Given the description of an element on the screen output the (x, y) to click on. 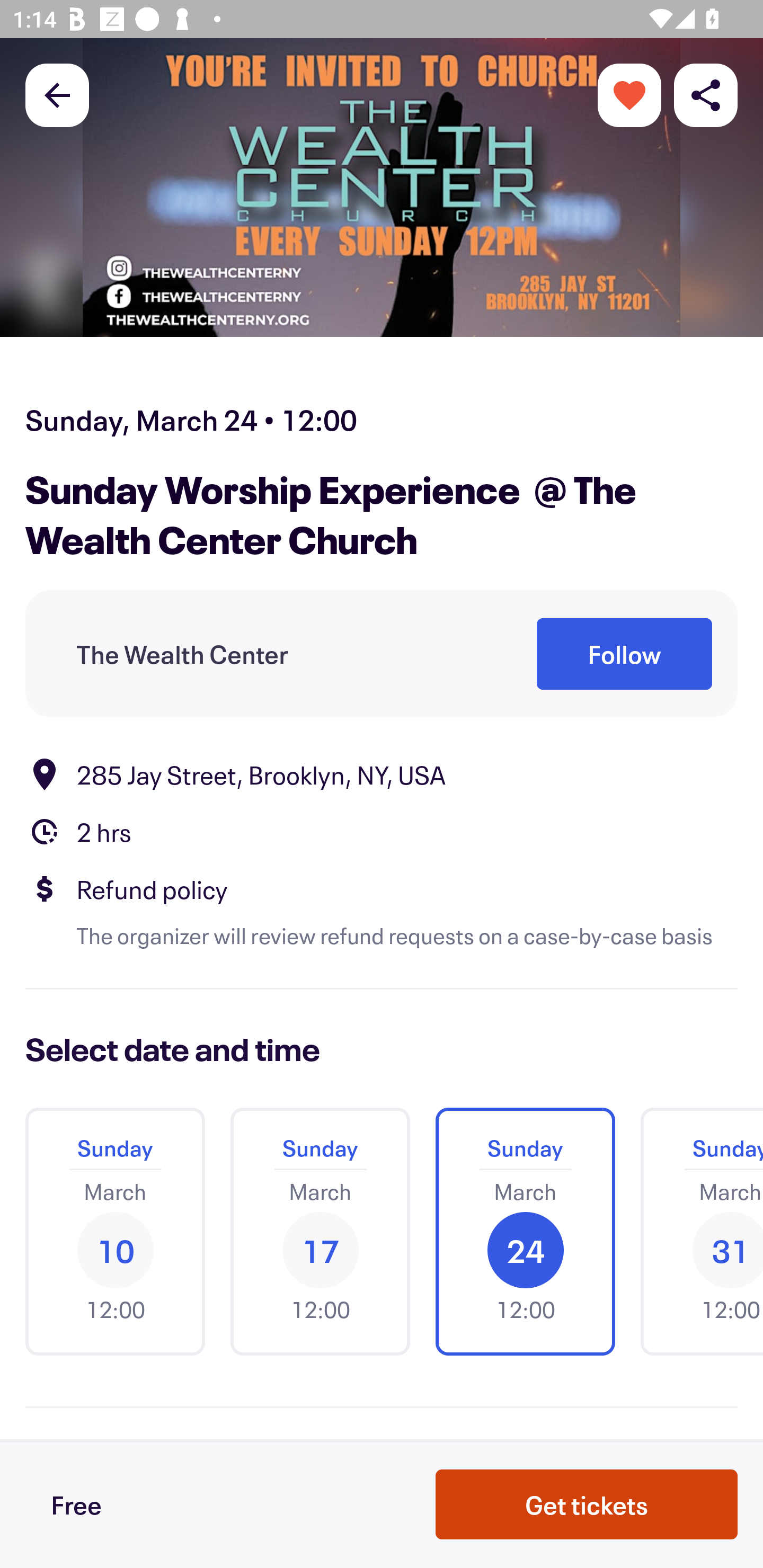
Back (57, 94)
More (629, 94)
Share (705, 94)
The Wealth Center (182, 654)
Follow (623, 654)
Location 285 Jay Street, Brooklyn, NY, USA (381, 774)
Sunday March 10 12:00 (114, 1231)
Sunday March 17 12:00 (319, 1231)
Sunday March 24 12:00 (524, 1231)
Sunday March 31 12:00 (695, 1231)
Get tickets (586, 1504)
